Given the description of an element on the screen output the (x, y) to click on. 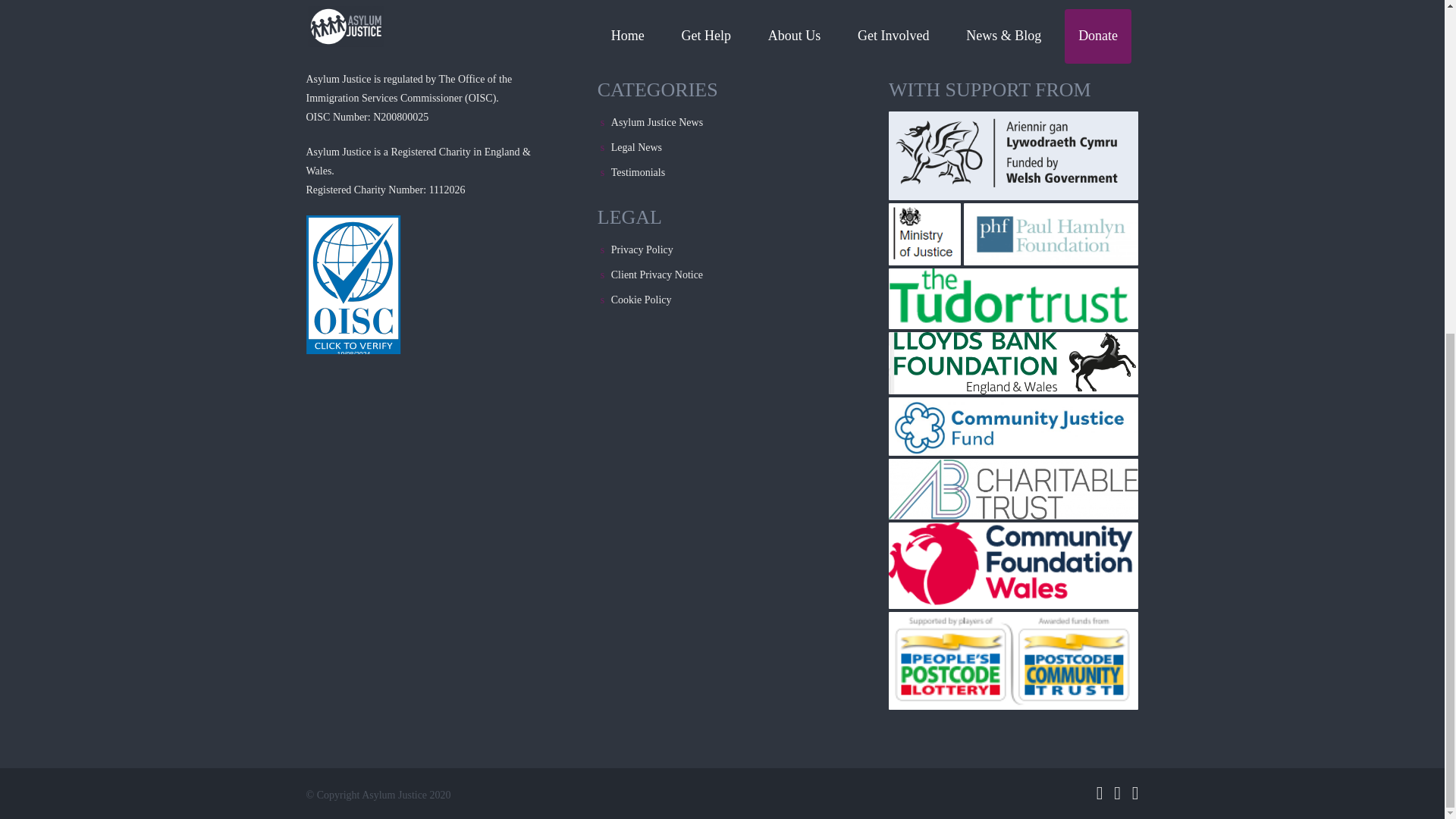
Client Privacy Notice (657, 274)
Asylum Justice News (657, 122)
Legal News (636, 147)
Privacy Policy (641, 249)
Testimonials (638, 172)
Cookie Policy (641, 299)
